Given the description of an element on the screen output the (x, y) to click on. 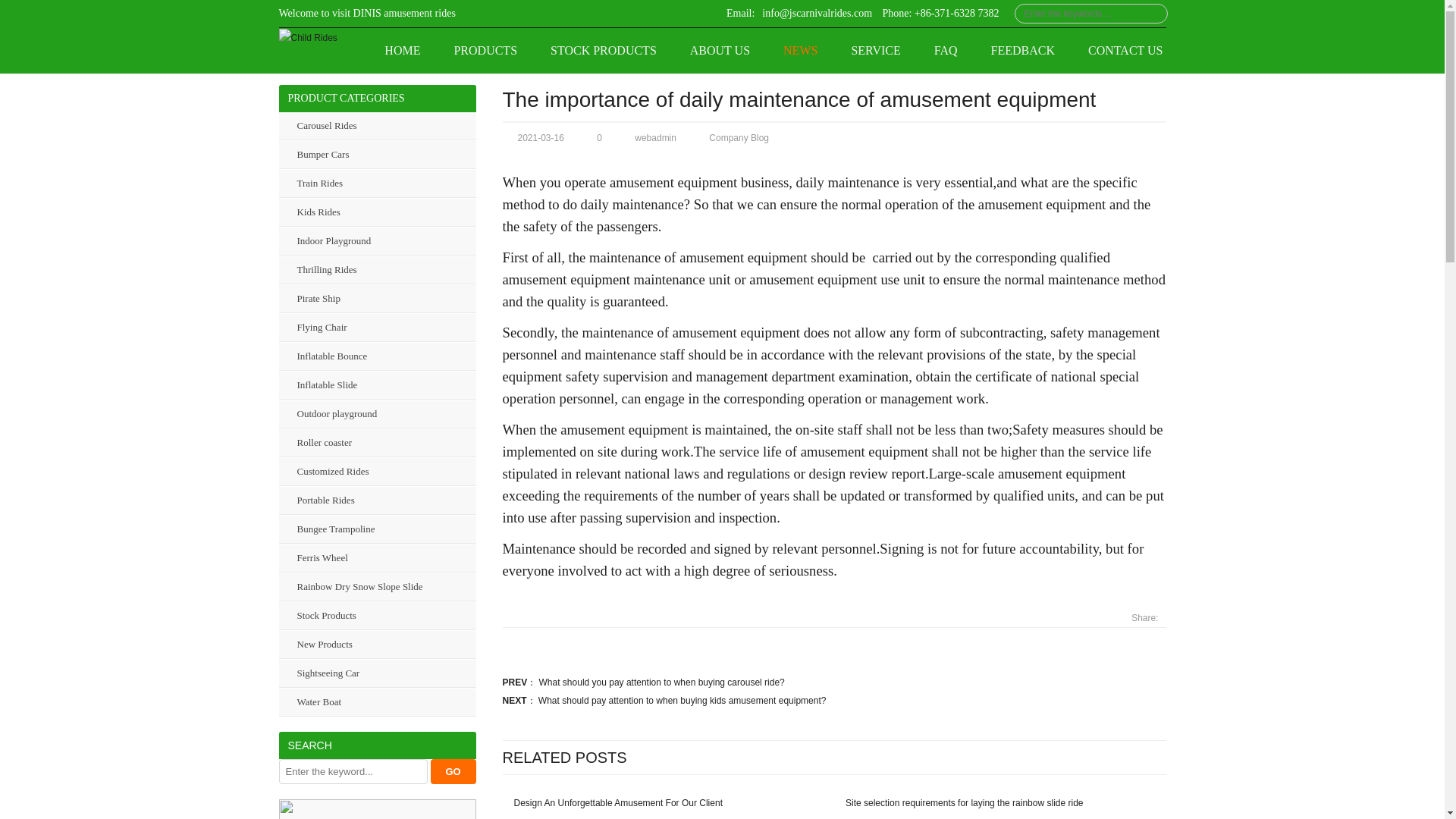
STOCK PRODUCTS (603, 50)
Search (453, 771)
ABOUT US (719, 50)
webadmin (655, 137)
SERVICE (875, 50)
HOME (402, 50)
GO (453, 771)
FAQ (945, 50)
GO (453, 771)
Child Rides (308, 37)
Design An Unforgettable Amusement For Our Client (612, 802)
NEWS (800, 50)
PRODUCTS (484, 50)
